Given the description of an element on the screen output the (x, y) to click on. 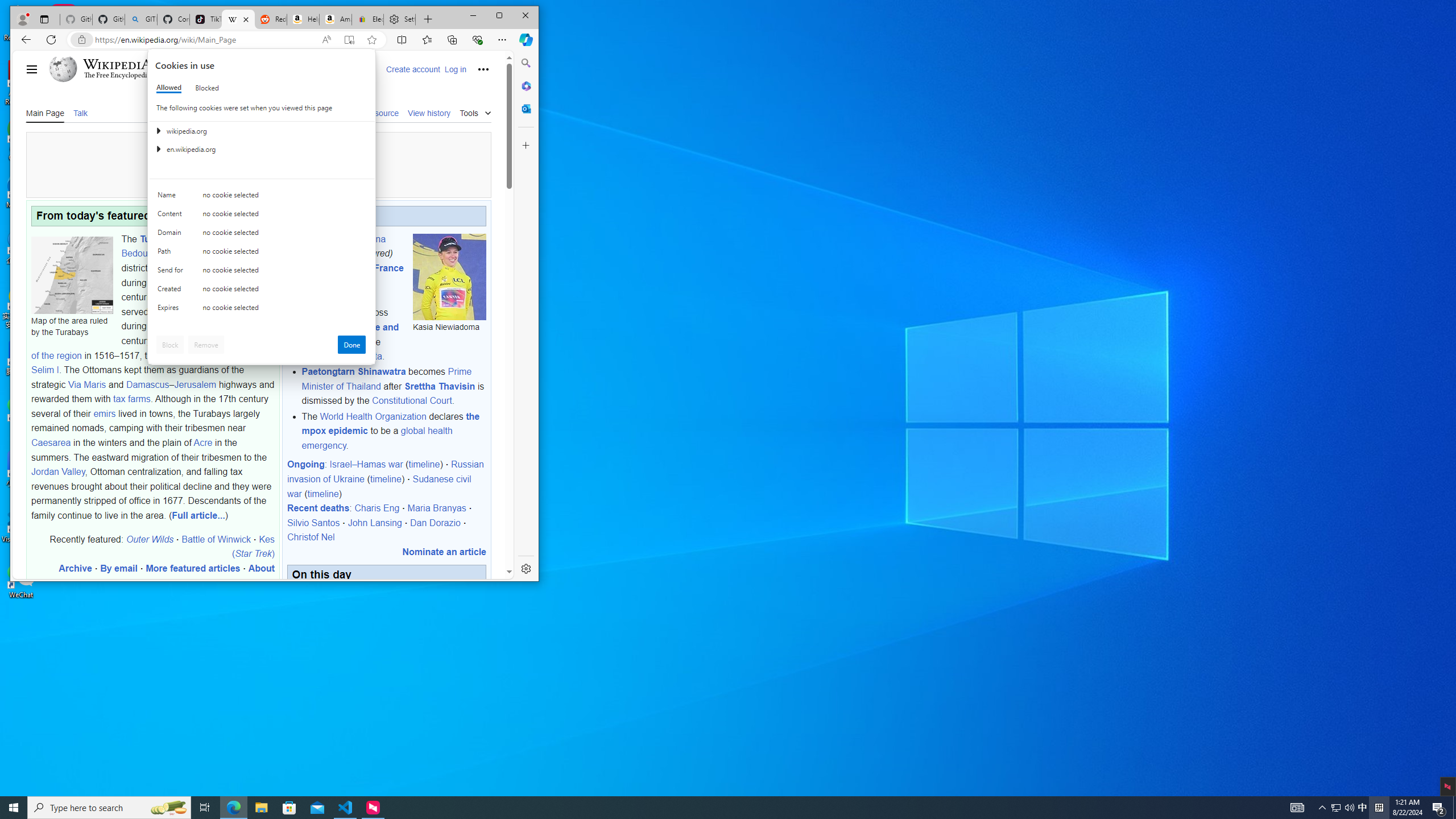
Remove (205, 344)
Content (172, 216)
Microsoft Store (289, 807)
Tray Input Indicator - Chinese (Simplified, China) (1378, 807)
Running applications (707, 807)
Search highlights icon opens search home window (167, 807)
Action Center, 2 new notifications (1439, 807)
Blocked (1335, 807)
Created (206, 87)
Path (172, 291)
File Explorer (172, 253)
Expires (261, 807)
User Promoted Notification Area (172, 310)
